Given the description of an element on the screen output the (x, y) to click on. 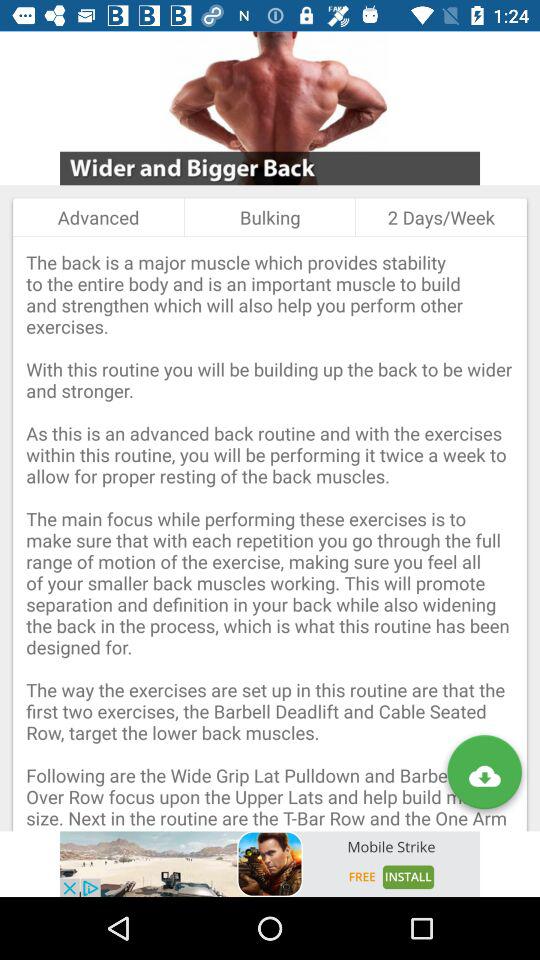
turn on icon next to 2 days/week (269, 217)
